Given the description of an element on the screen output the (x, y) to click on. 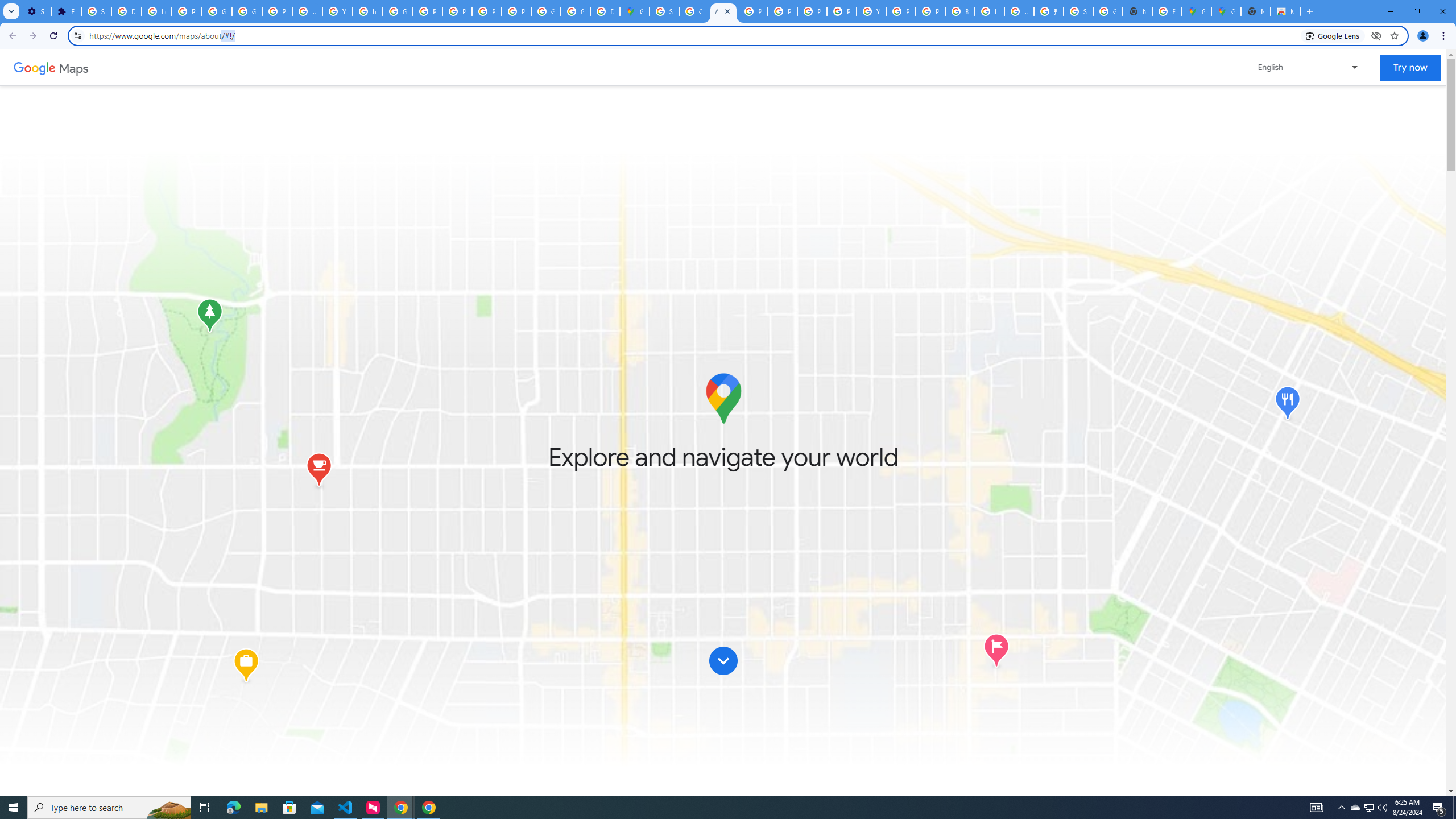
Policy Accountability and Transparency - Transparency Center (753, 11)
Google Maps logo (722, 398)
Google Account Help (216, 11)
